Given the description of an element on the screen output the (x, y) to click on. 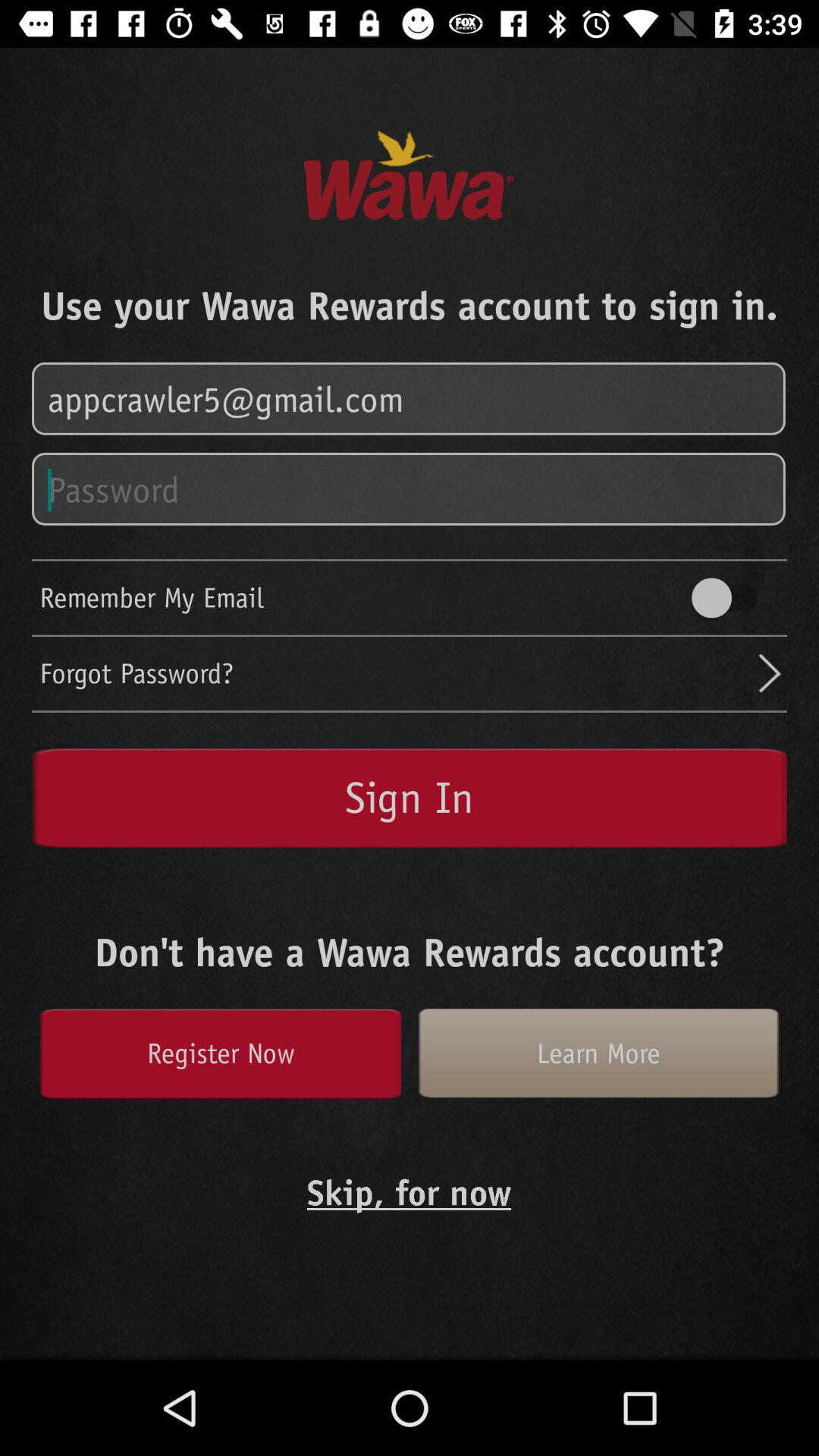
press forgot password? icon (396, 673)
